Given the description of an element on the screen output the (x, y) to click on. 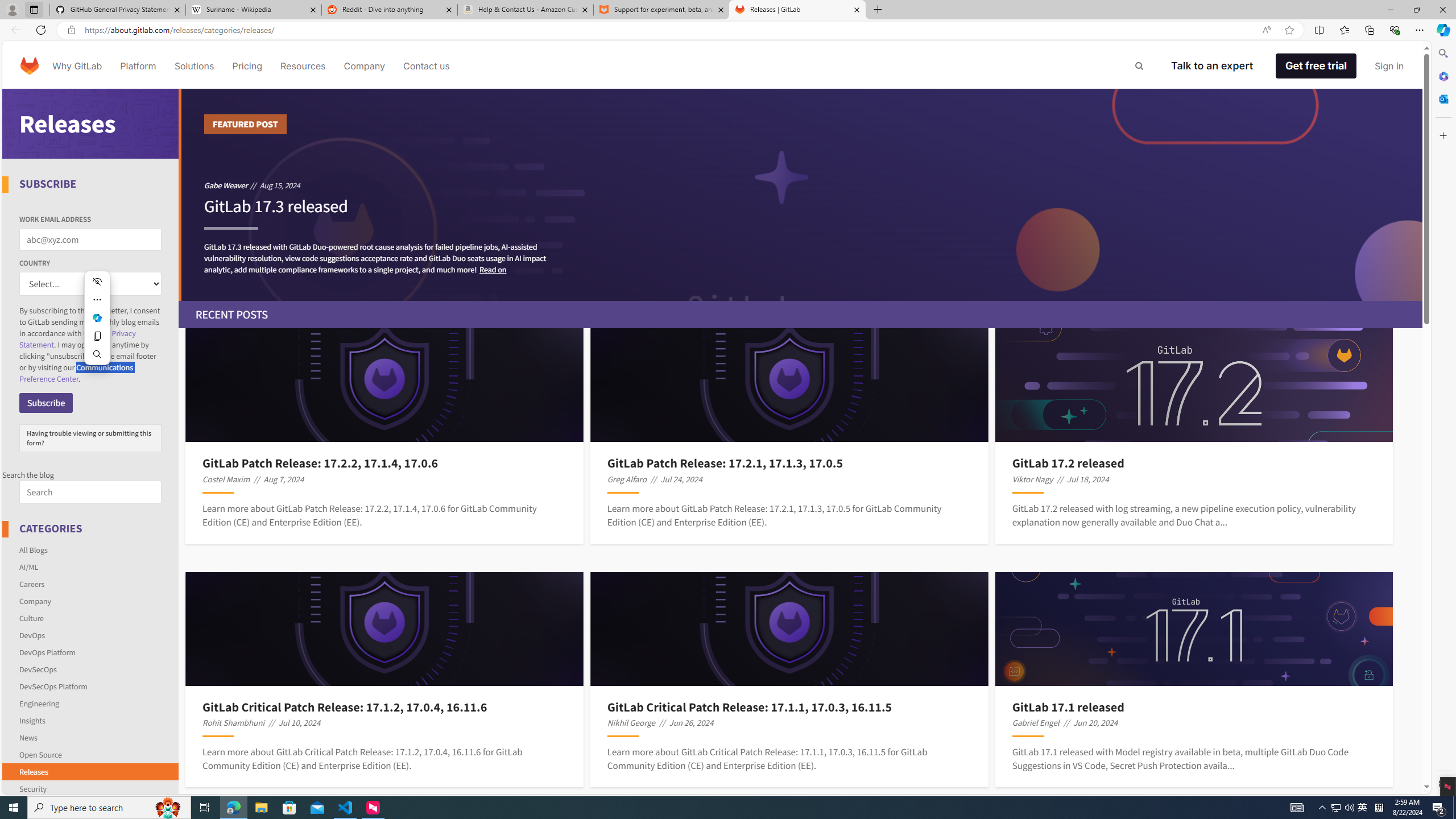
Company (364, 65)
Post Image (1193, 628)
All Blogs (33, 549)
GitLab 17.3 released (275, 211)
Costel Maxim (226, 478)
Viktor Nagy (1031, 478)
Releases | GitLab (797, 9)
DevOps (90, 634)
DevSecOps (37, 668)
Subscribe (45, 402)
GitLab Patch Release: 17.2.2, 17.1.4, 17.0.6 (384, 463)
